Given the description of an element on the screen output the (x, y) to click on. 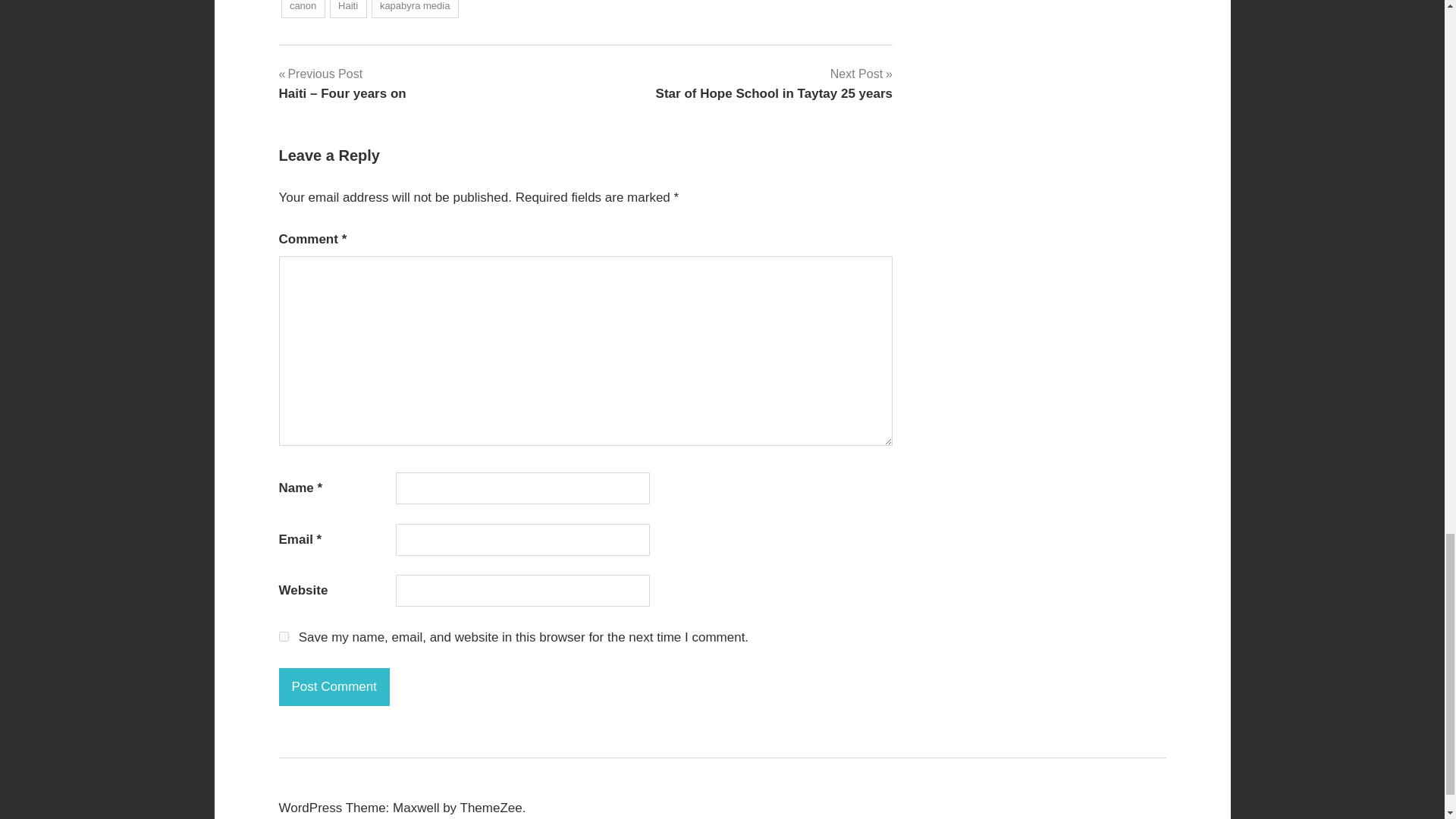
Post Comment (334, 686)
yes (283, 636)
Post Comment (334, 686)
Haiti (348, 9)
canon (302, 9)
kapabyra media (414, 9)
